Given the description of an element on the screen output the (x, y) to click on. 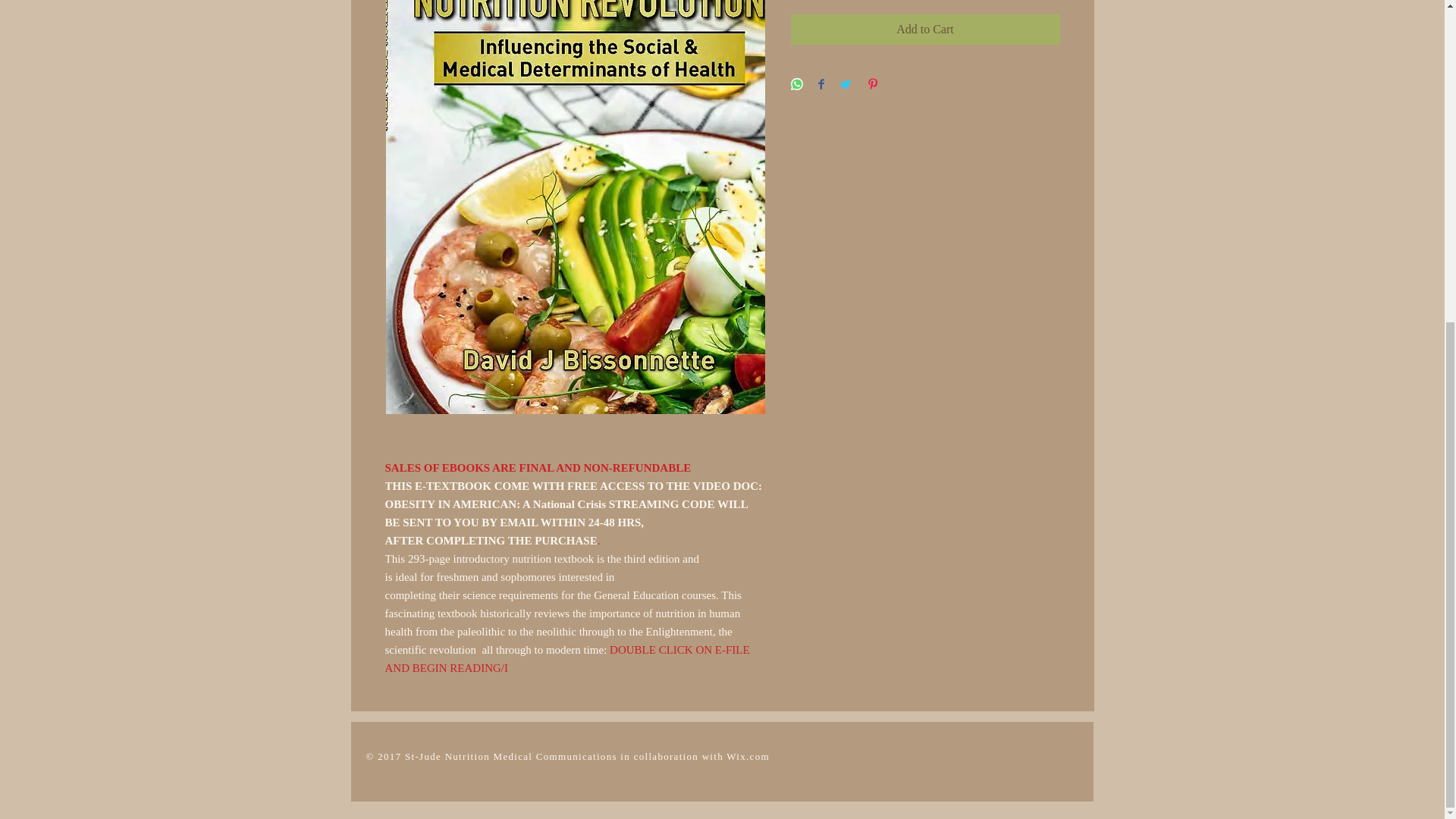
Wix.com (748, 756)
Add to Cart (924, 29)
